Given the description of an element on the screen output the (x, y) to click on. 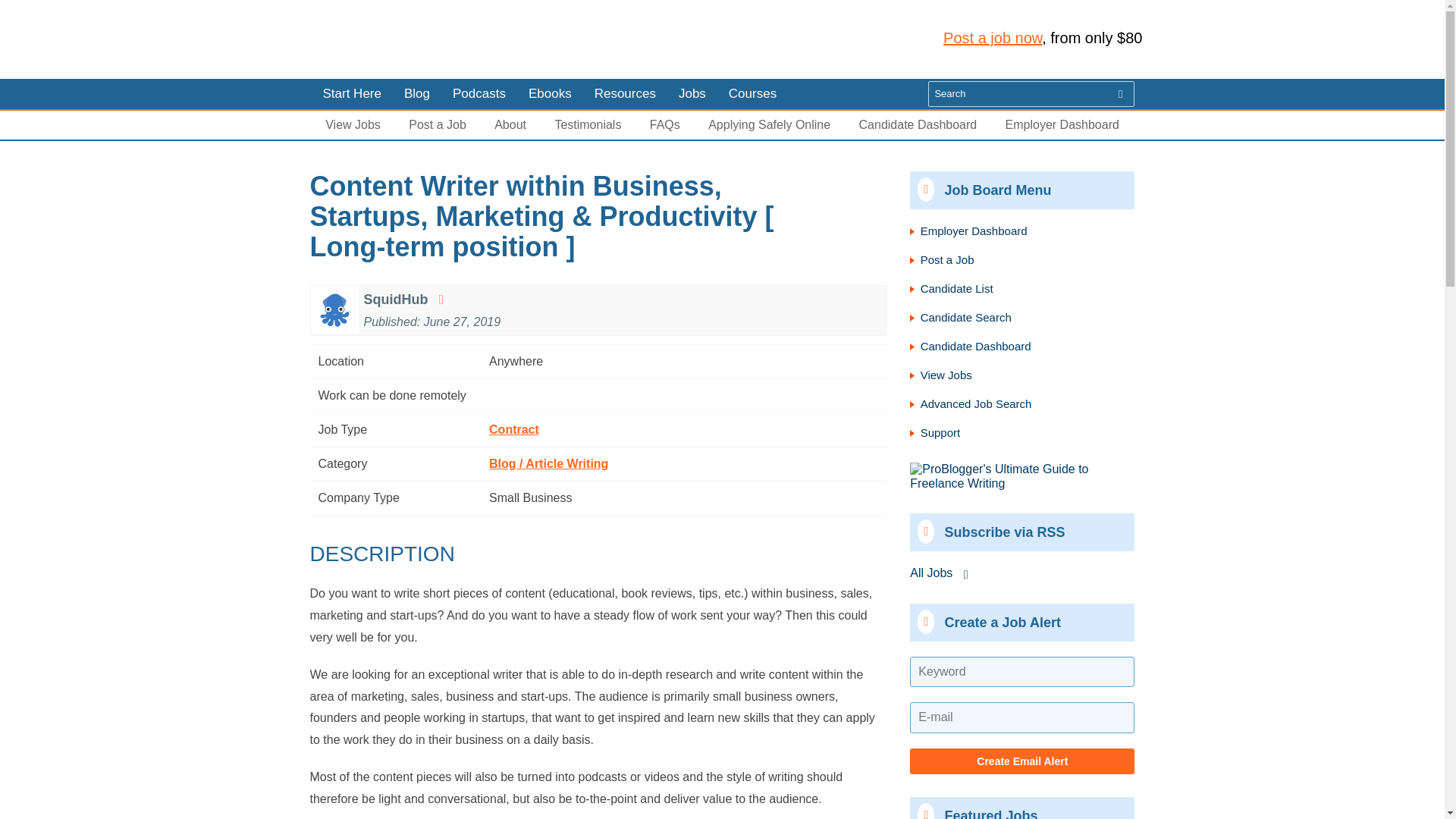
Courses (752, 93)
Search Now (1120, 93)
Applying Safely Online (769, 124)
View Jobs (352, 124)
Jobs (692, 93)
FAQs (664, 124)
About (510, 124)
Candidate Dashboard (917, 124)
ProBlogger Jobs (409, 38)
visit company profile (439, 299)
